Given the description of an element on the screen output the (x, y) to click on. 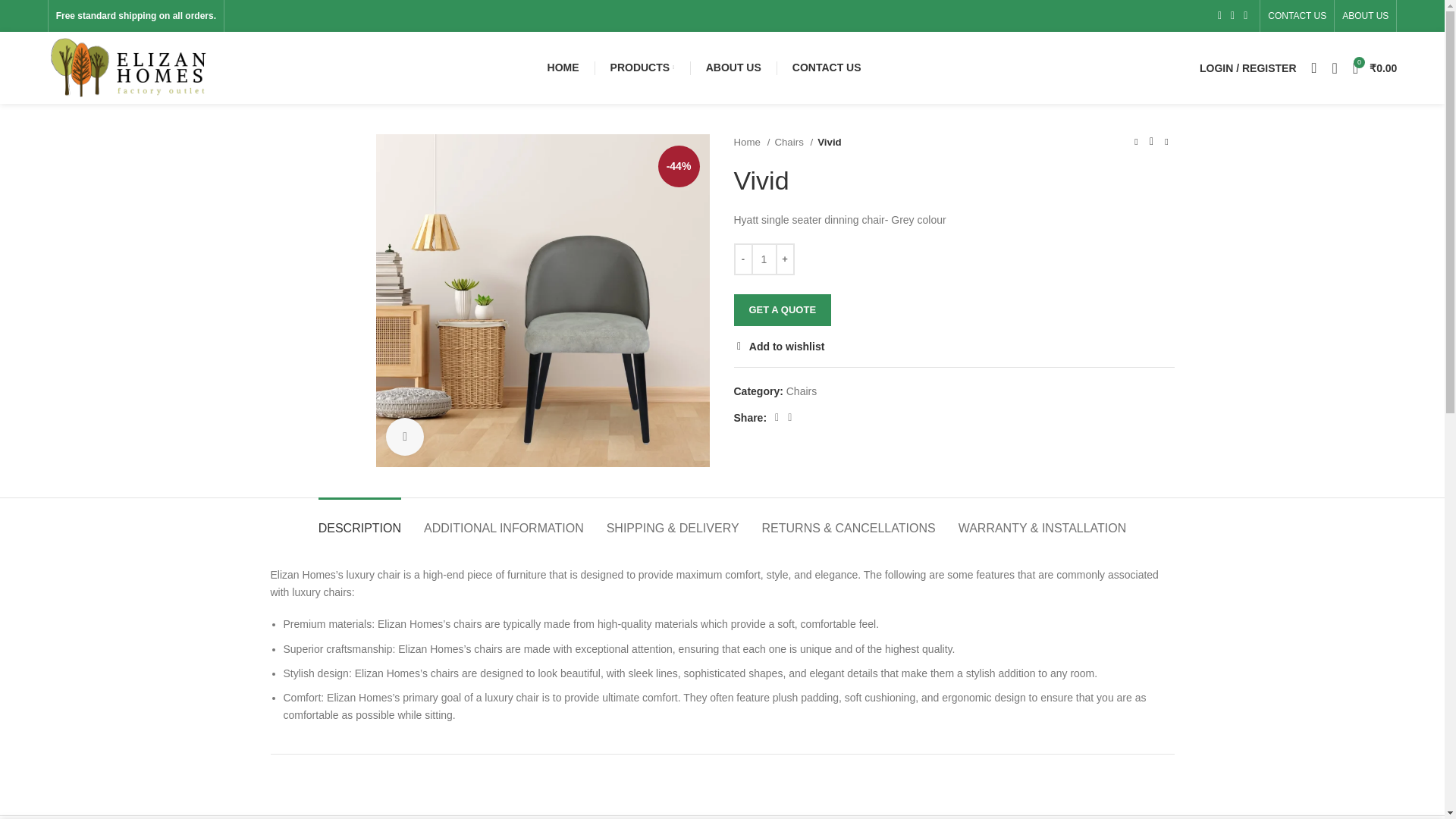
PRODUCTS (642, 68)
HOME (563, 68)
Home (751, 141)
ABOUT US (1365, 15)
My account (1248, 68)
CONTACT US (1296, 15)
CONTACT US (826, 68)
Chairs (793, 141)
ABOUT US (733, 68)
-min (542, 300)
Shopping cart (1375, 68)
